Given the description of an element on the screen output the (x, y) to click on. 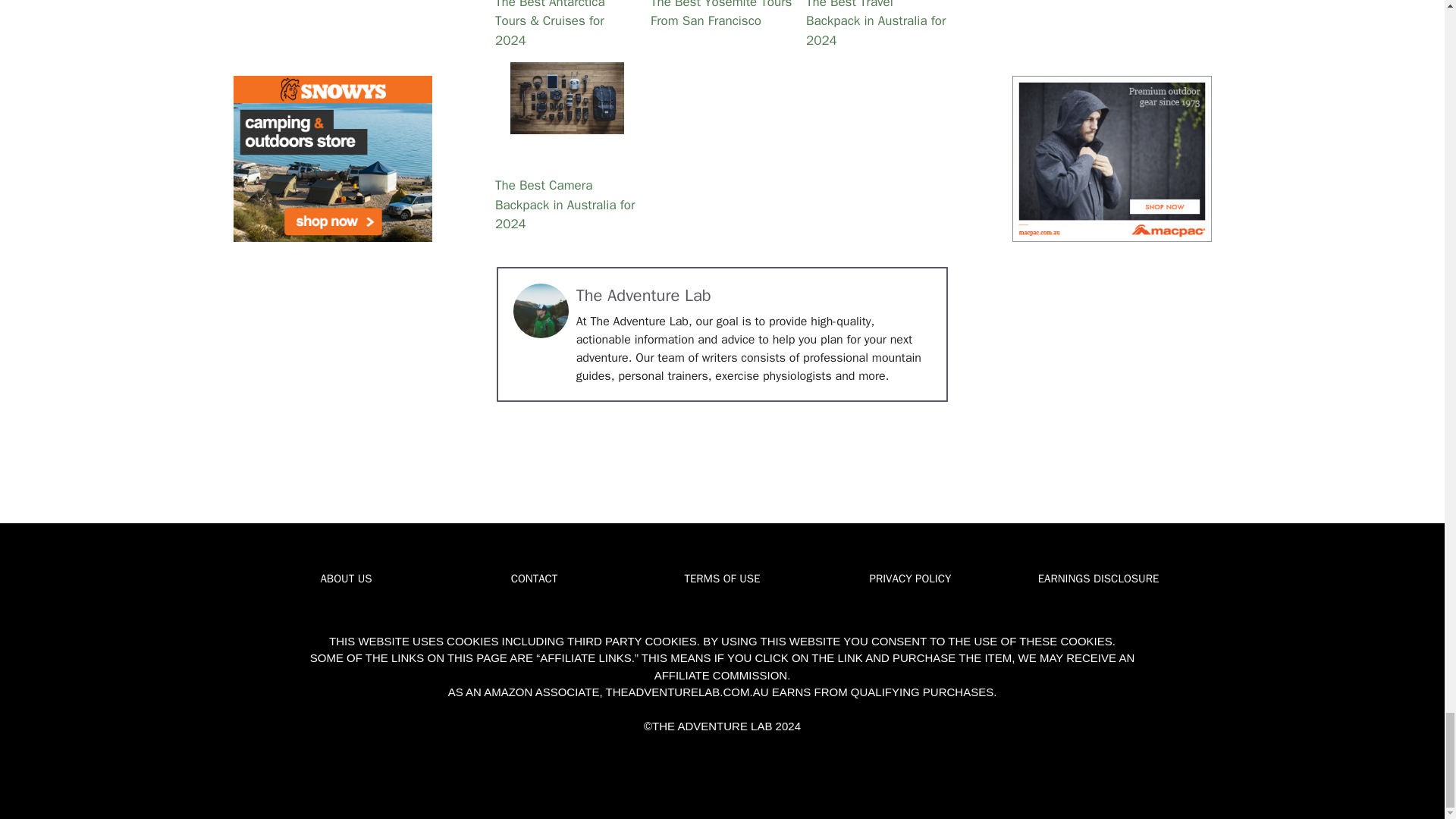
The Best Travel Backpack in Australia for 2024 (877, 26)
The Best Yosemite Tours From San Francisco (721, 26)
The Best Camera Backpack in Australia for 2024 (566, 98)
The Adventure Lab (643, 295)
